Given the description of an element on the screen output the (x, y) to click on. 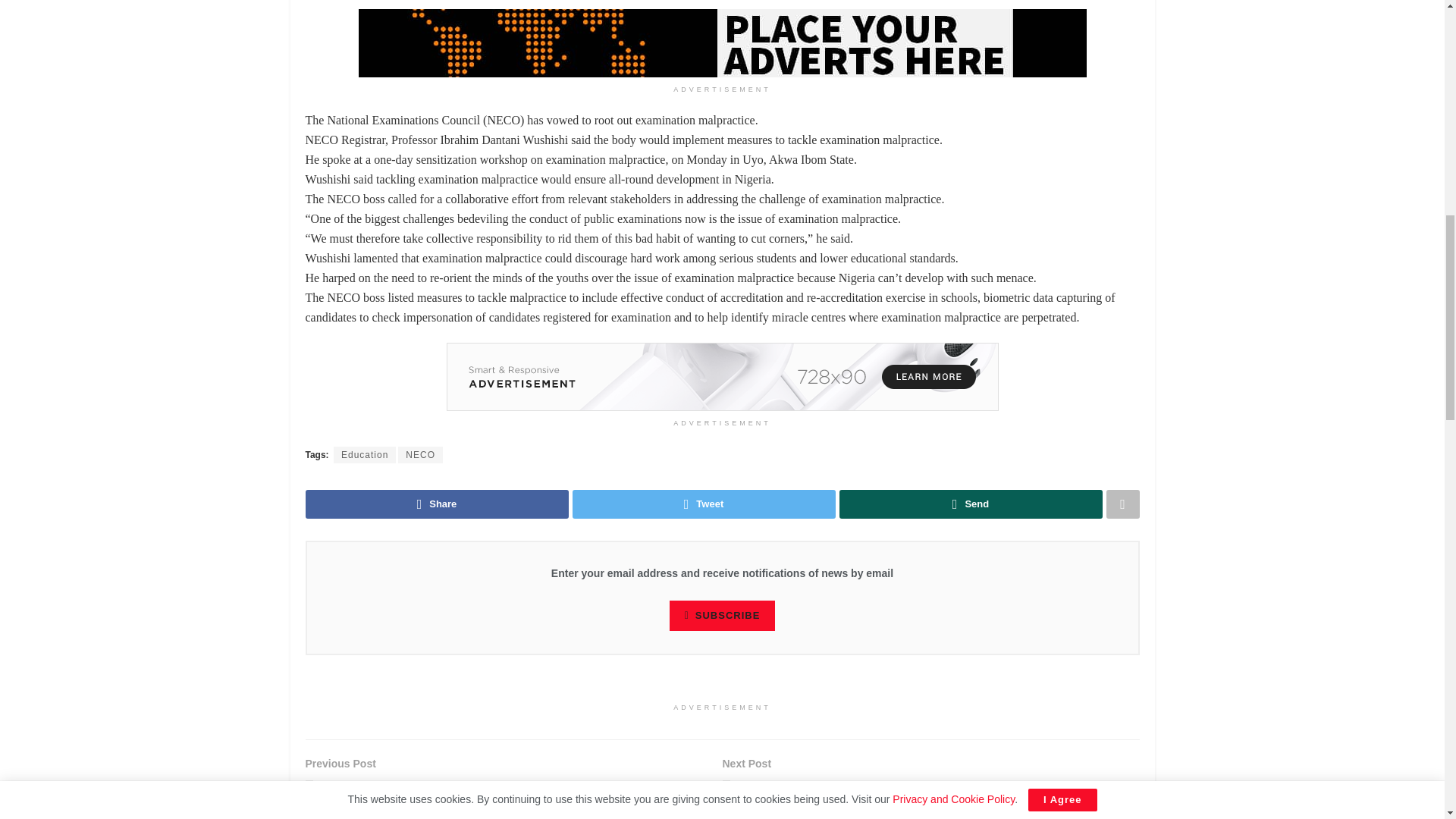
Education (364, 454)
NECO (419, 454)
